Given the description of an element on the screen output the (x, y) to click on. 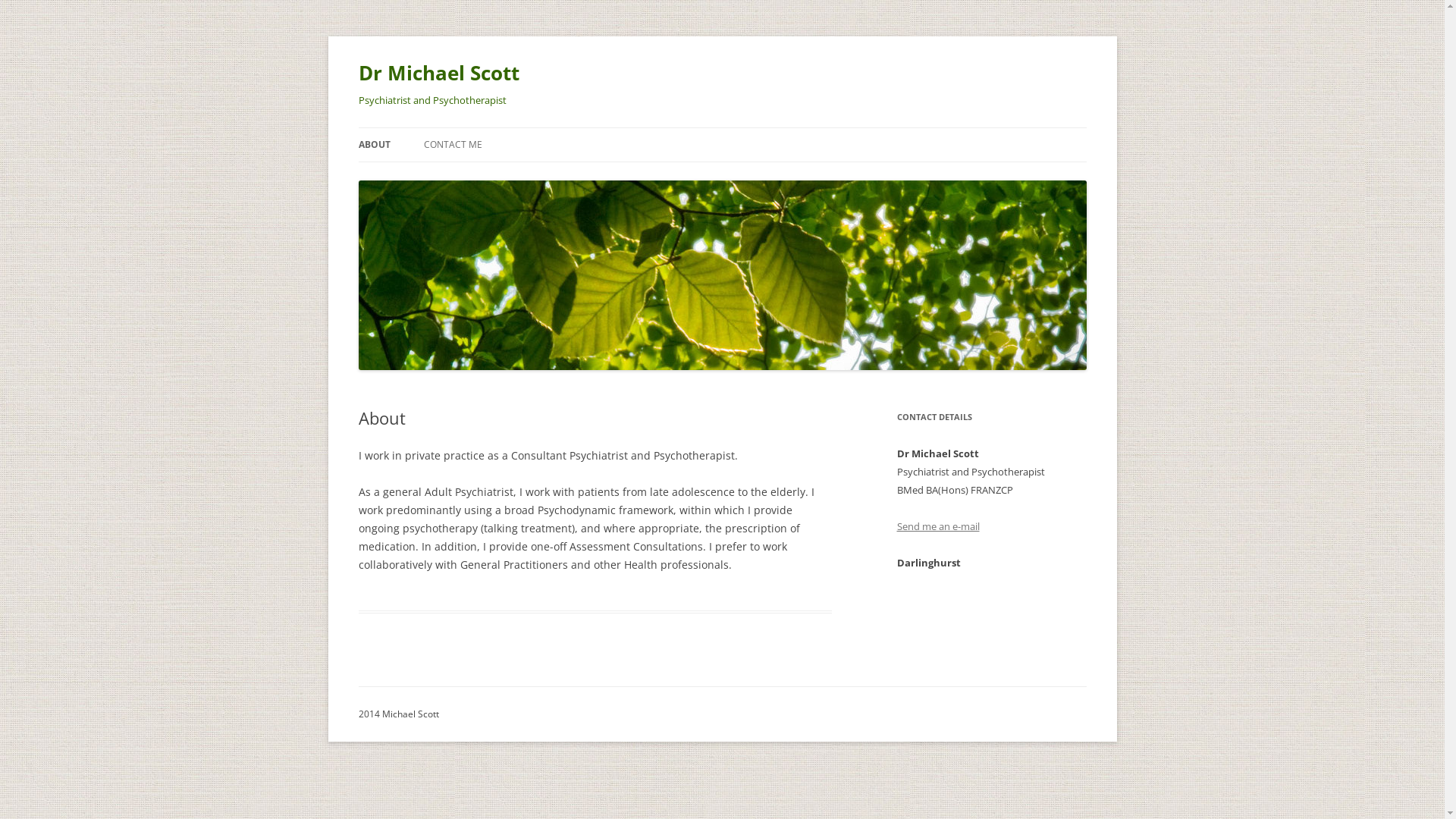
CONTACT ME Element type: text (452, 144)
Skip to content Element type: text (759, 132)
ABOUT Element type: text (373, 144)
Send me an e-mail Element type: text (937, 526)
Dr Michael Scott Element type: text (437, 72)
